Given the description of an element on the screen output the (x, y) to click on. 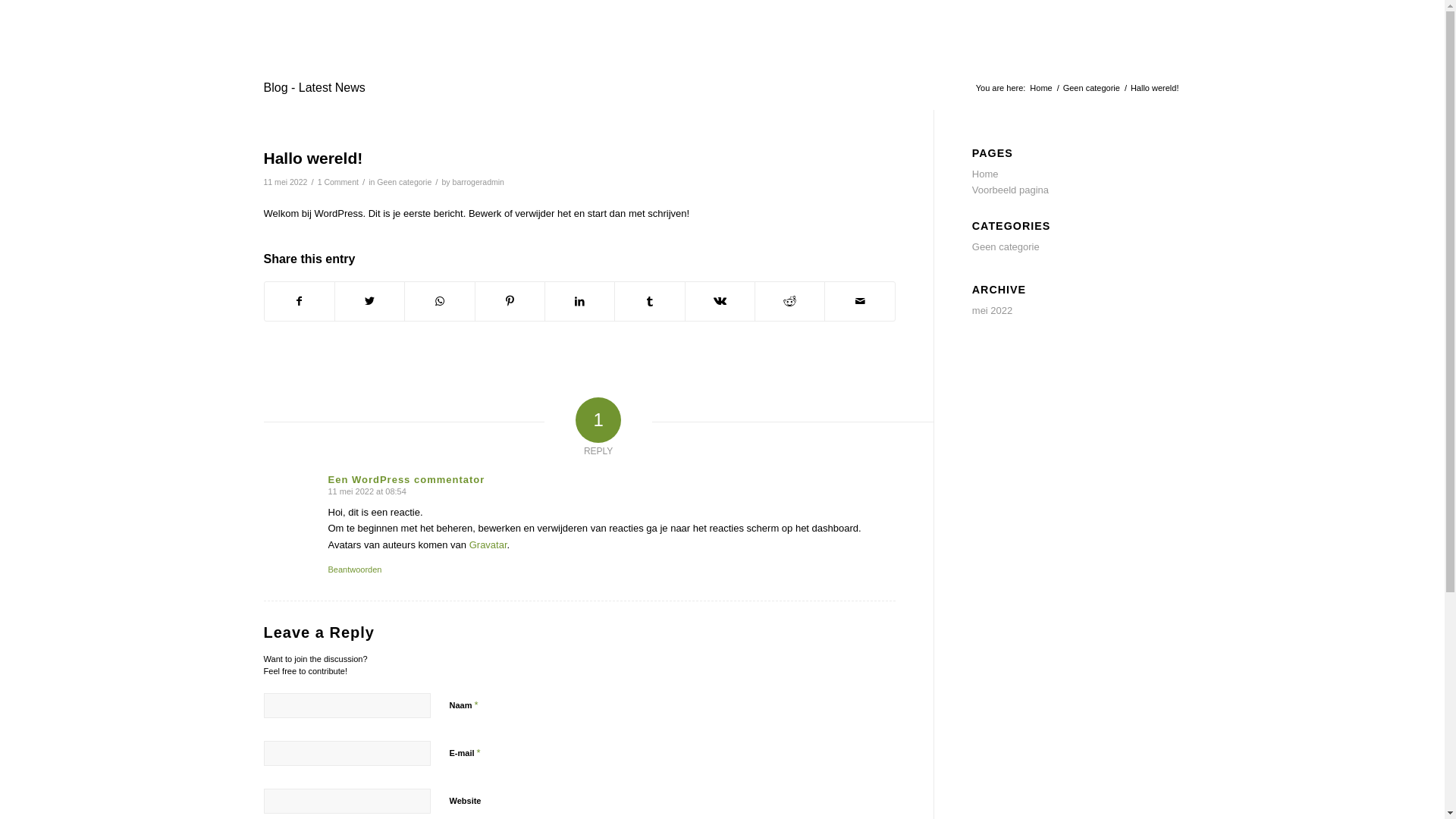
Blog - Latest News Element type: text (314, 87)
Een WordPress commentator Element type: text (405, 479)
barrogeradmin Element type: text (478, 181)
Home Element type: text (1040, 88)
Gravatar Element type: text (488, 544)
1 Comment Element type: text (337, 181)
Voorbeeld pagina Element type: text (1010, 189)
Geen categorie Element type: text (1005, 246)
Beantwoorden Element type: text (354, 569)
Geen categorie Element type: text (1091, 88)
11 mei 2022 at 08:54 Element type: text (366, 490)
Geen categorie Element type: text (403, 181)
mei 2022 Element type: text (992, 310)
Home Element type: text (985, 173)
